Given the description of an element on the screen output the (x, y) to click on. 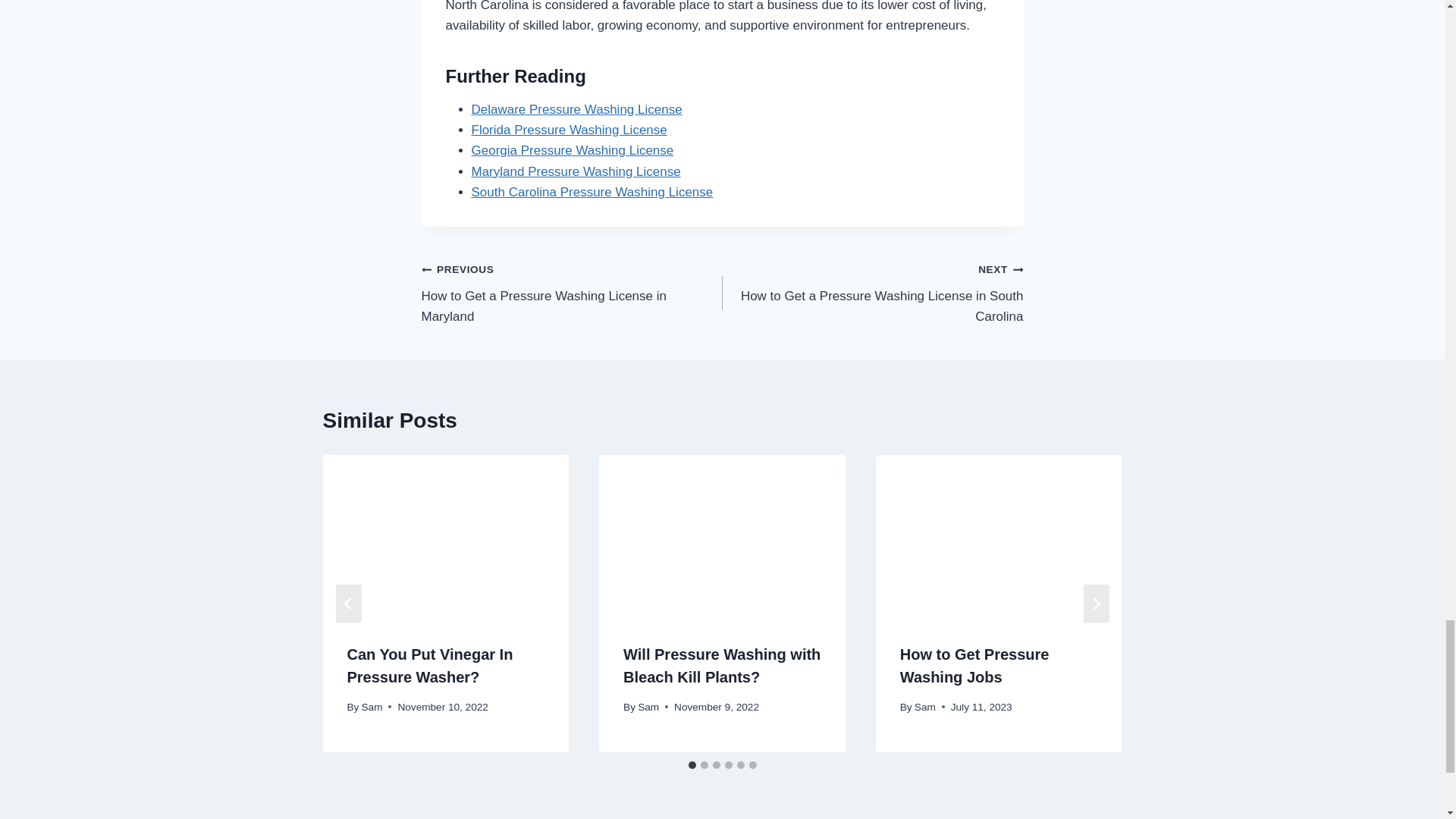
South Carolina Pressure Washing License (572, 292)
Delaware Pressure Washing License (592, 192)
Florida Pressure Washing License (872, 292)
Georgia Pressure Washing License (576, 109)
Maryland Pressure Washing License (568, 129)
